Given the description of an element on the screen output the (x, y) to click on. 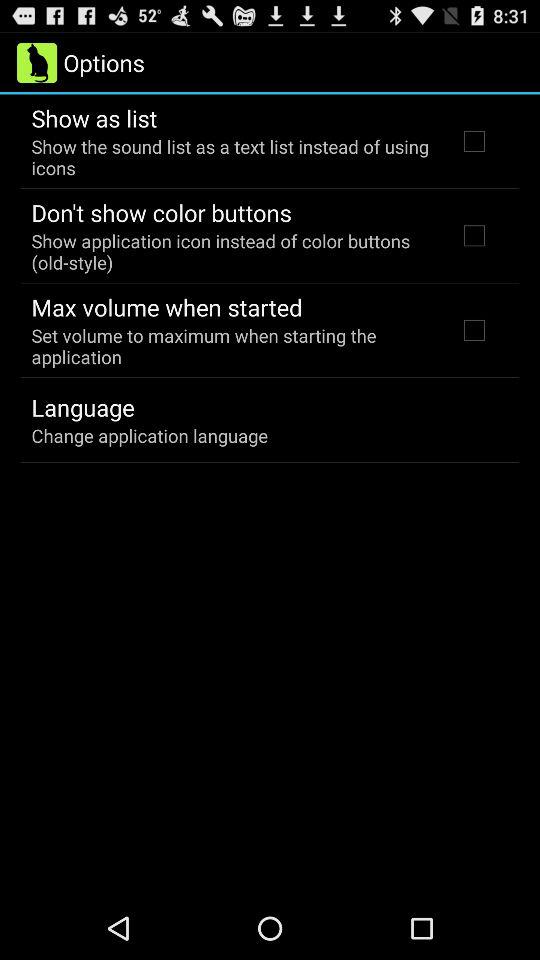
choose the set volume to at the center (231, 346)
